Given the description of an element on the screen output the (x, y) to click on. 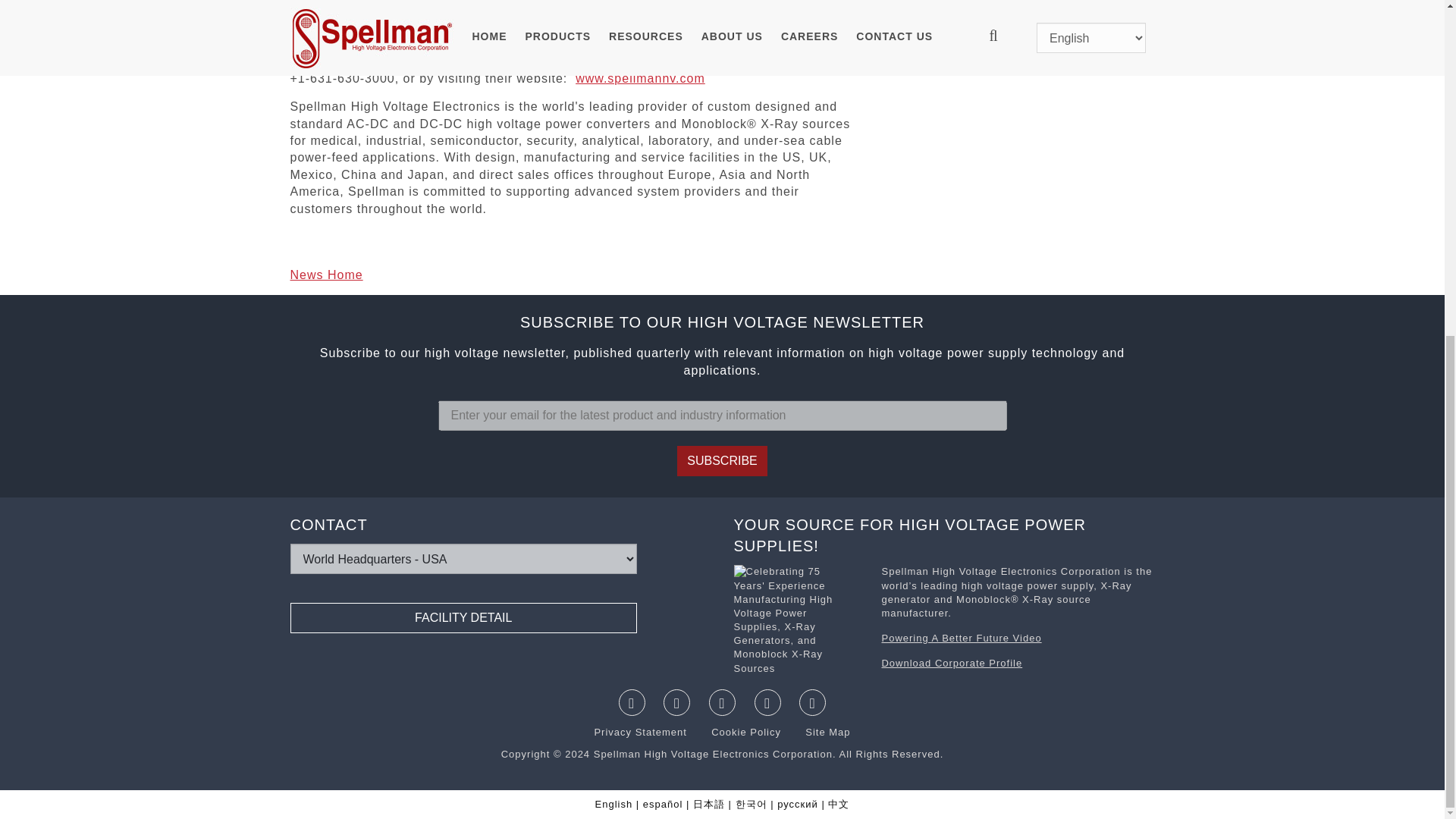
FACILITY DETAIL (463, 617)
Download Corporate Profile (951, 663)
Privacy Statement (642, 731)
      Cookie Policy (737, 731)
Download the Corporate Profile (799, 621)
SUBSCRIBE (722, 460)
Powering A Better Future Video (960, 637)
News Home (325, 274)
www.spellmanhv.com (639, 78)
